Given the description of an element on the screen output the (x, y) to click on. 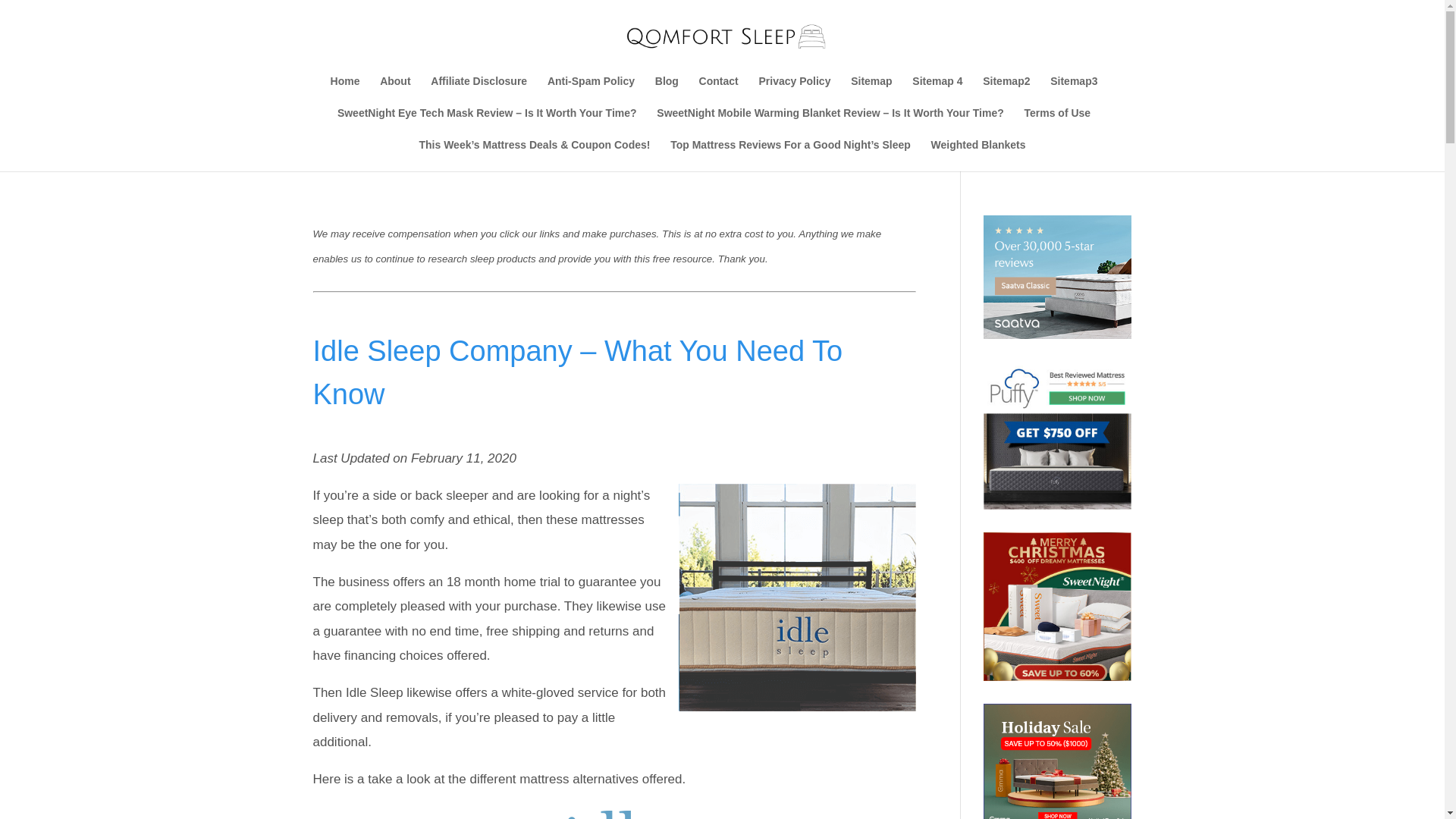
About (395, 91)
Sitemap 4 (937, 91)
Affiliate Disclosure (478, 91)
Anti-Spam Policy (590, 91)
Sitemap2 (1005, 91)
Terms of Use (1056, 123)
Sitemap3 (1073, 91)
Contact (718, 91)
Sitemap (870, 91)
Privacy Policy (793, 91)
Home (344, 91)
Weighted Blankets (978, 155)
